Given the description of an element on the screen output the (x, y) to click on. 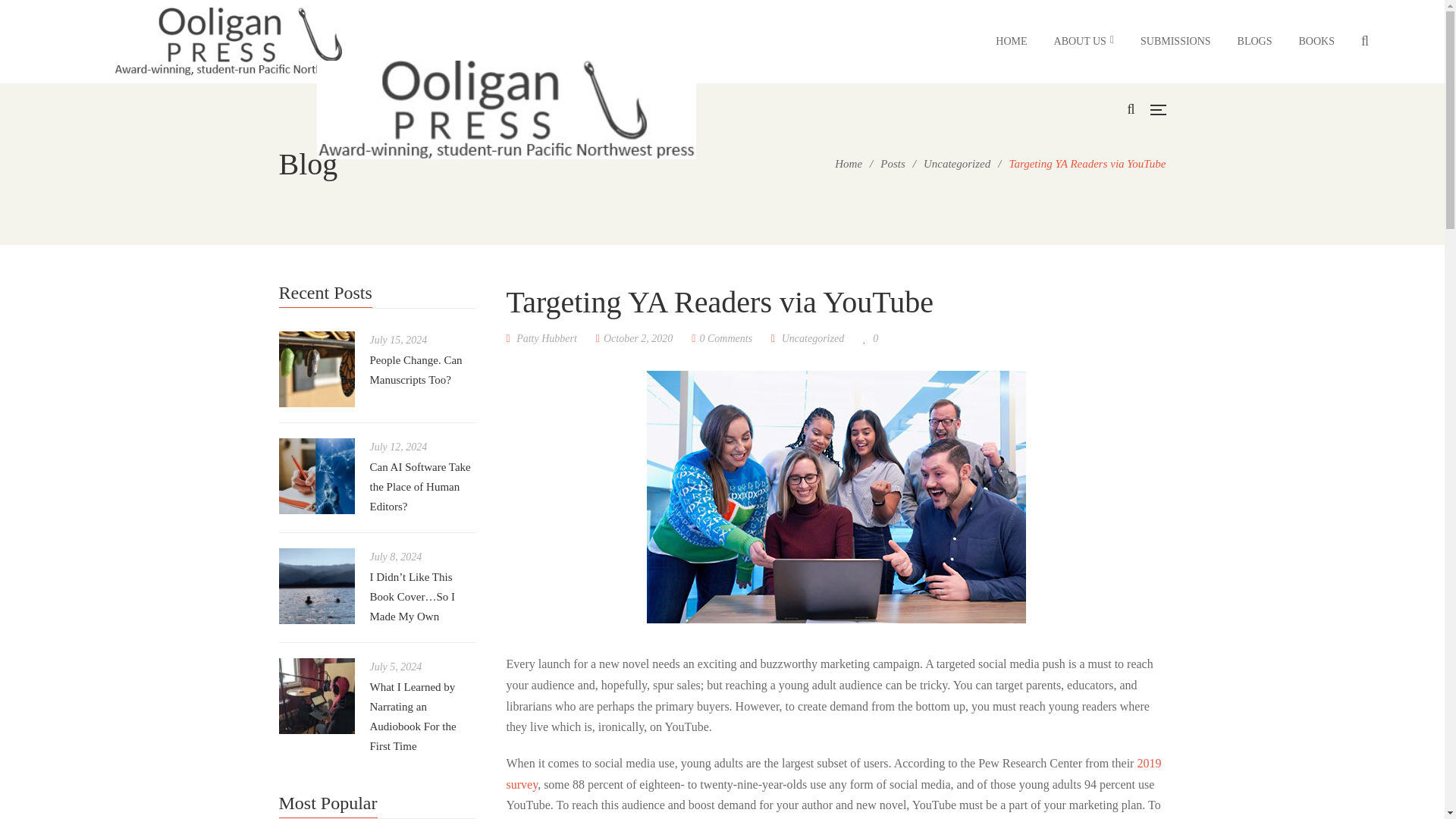
Uncategorized (956, 163)
BLOGS (1254, 41)
Ooligan Press-Student Owned and Operated (506, 110)
Ooligan Press-Student Owned and Operated (244, 49)
2019 survey (833, 773)
ABOUT US (1084, 41)
0 (870, 337)
Uncategorized (812, 337)
Targeting YA Readers via YouTube (633, 337)
Browse Author Articles (541, 337)
Posts (892, 163)
0 Comments (721, 337)
HOME (1010, 41)
October 2, 2020 (633, 337)
Home (847, 163)
